Given the description of an element on the screen output the (x, y) to click on. 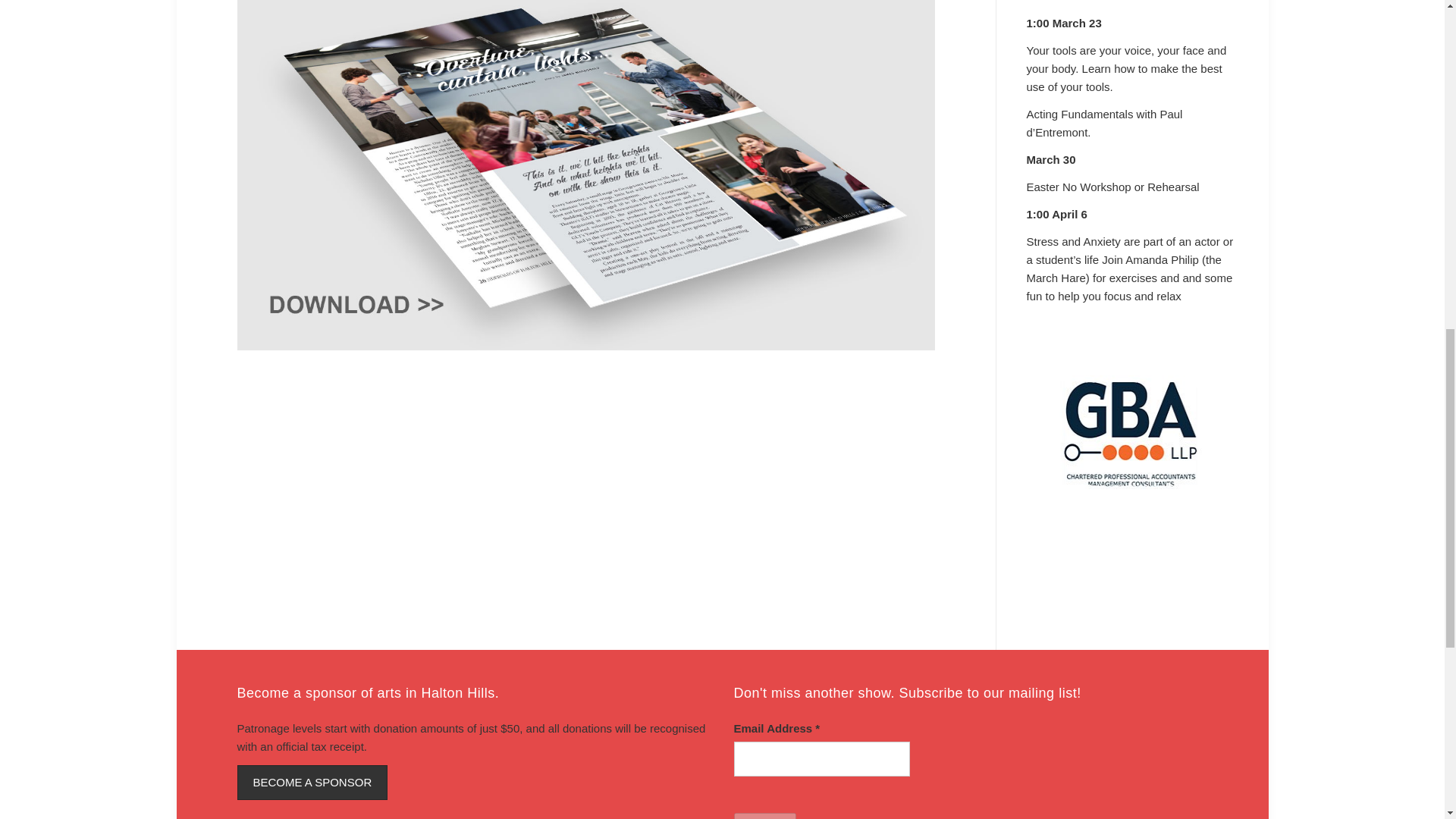
Sponsor (311, 782)
Subscribe (764, 816)
